Given the description of an element on the screen output the (x, y) to click on. 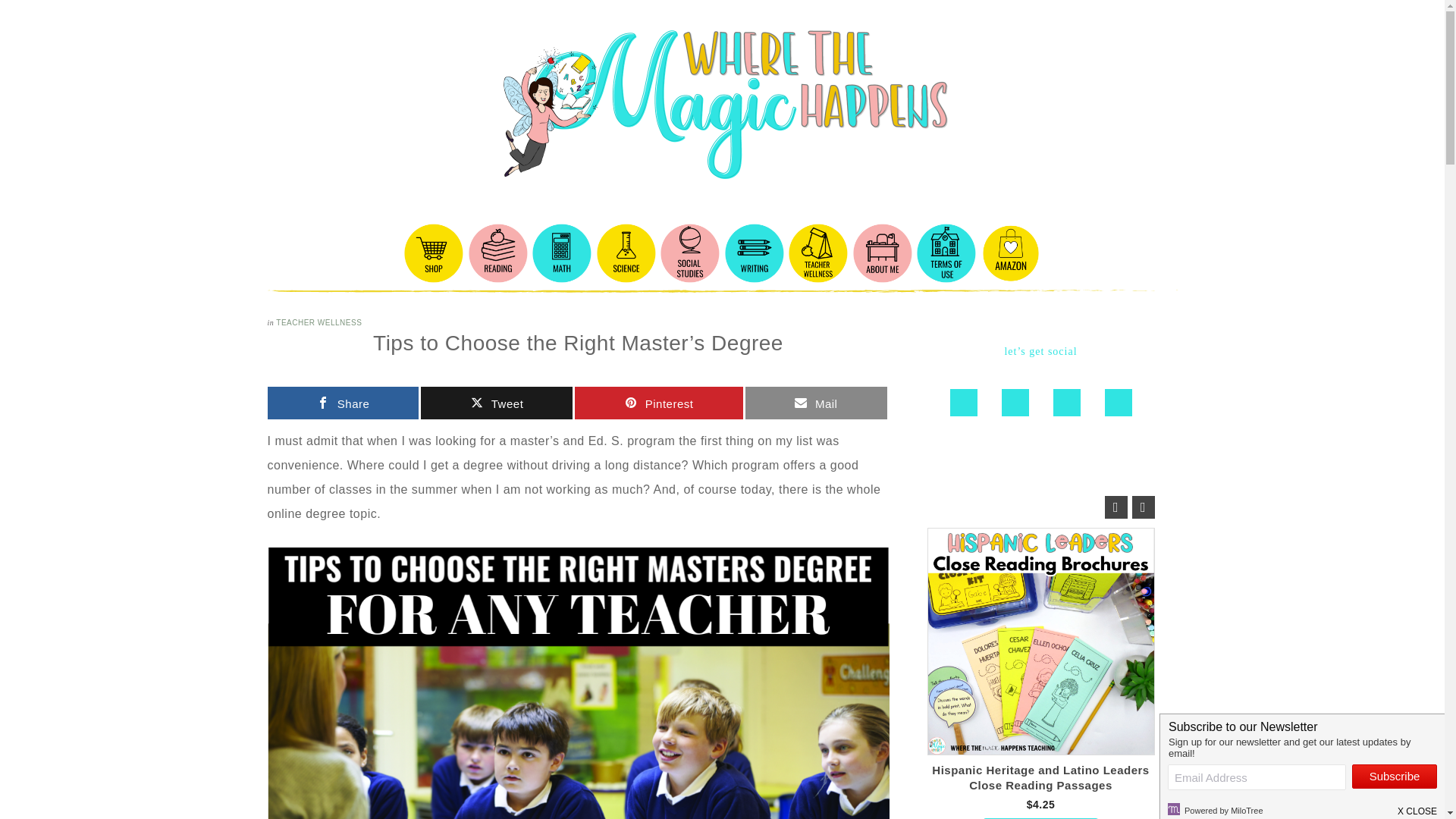
TEACHER WELLNESS (318, 322)
Pinterest (658, 402)
Tweet (496, 402)
Mail (815, 402)
Share (342, 402)
